Given the description of an element on the screen output the (x, y) to click on. 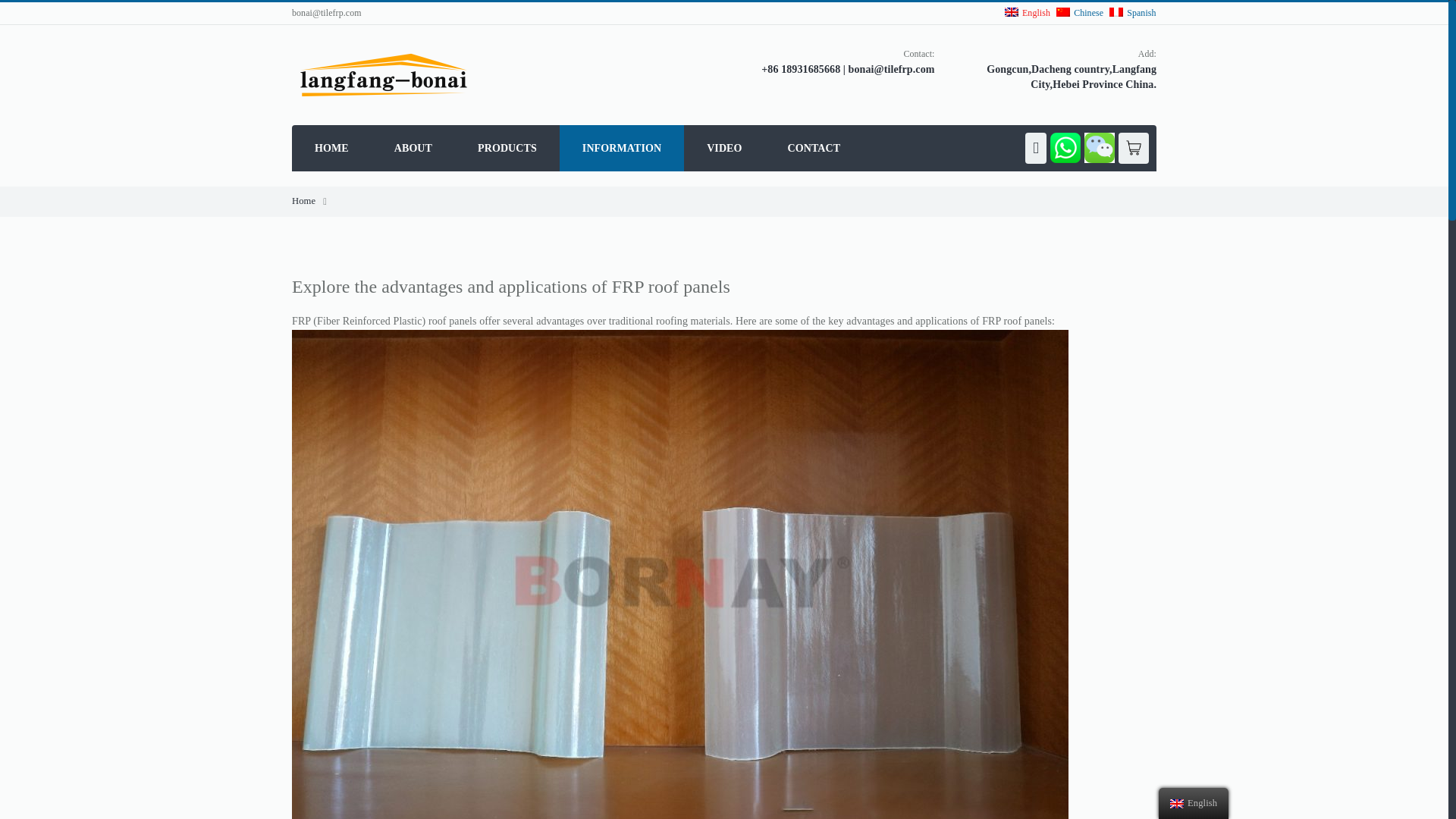
English (1176, 803)
Spanish (1116, 11)
VIDEO (724, 148)
English (1025, 12)
CONTACT (814, 148)
INFORMATION (621, 148)
Chinese (1063, 11)
English (1010, 11)
HOME (331, 148)
ABOUT (412, 148)
English (1193, 803)
Spanish (1131, 12)
Chinese (1077, 12)
Home (303, 200)
PRODUCTS (506, 148)
